Given the description of an element on the screen output the (x, y) to click on. 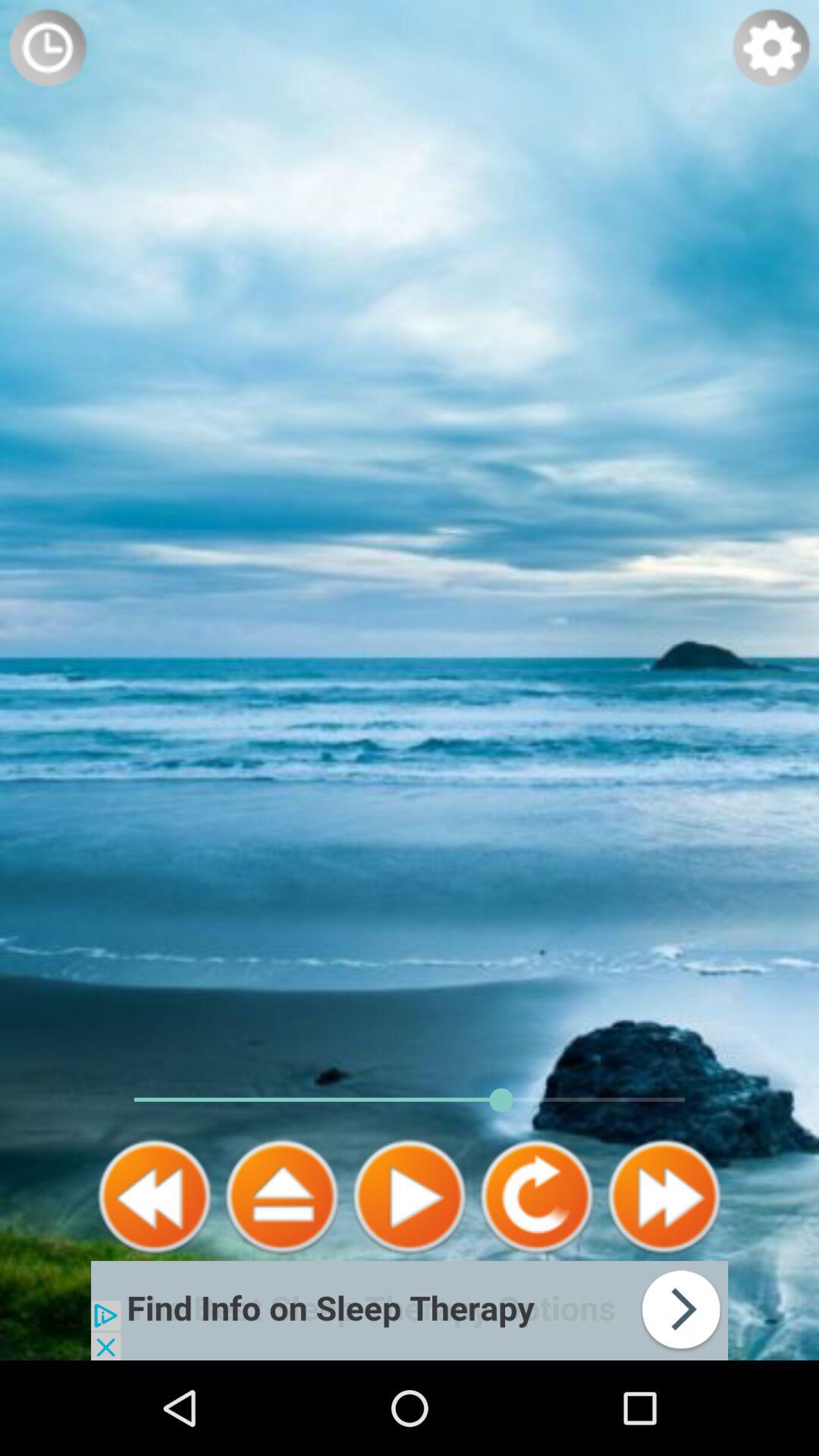
backward (154, 1196)
